Given the description of an element on the screen output the (x, y) to click on. 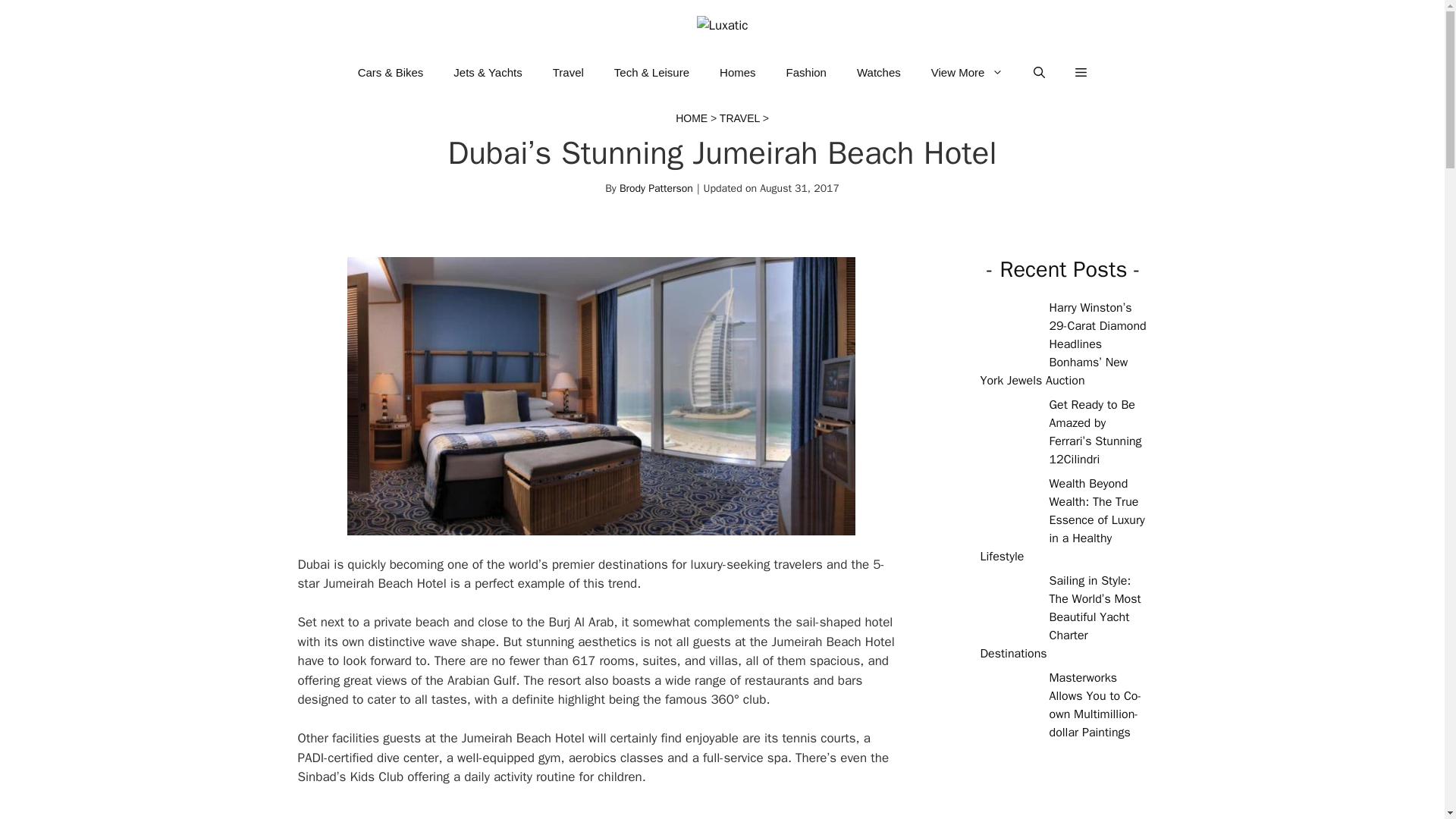
Fashion (806, 72)
TRAVEL (739, 118)
Brody Patterson (656, 187)
Homes (737, 72)
Watches (878, 72)
Travel (567, 72)
HOME (691, 118)
View More (967, 72)
